Given the description of an element on the screen output the (x, y) to click on. 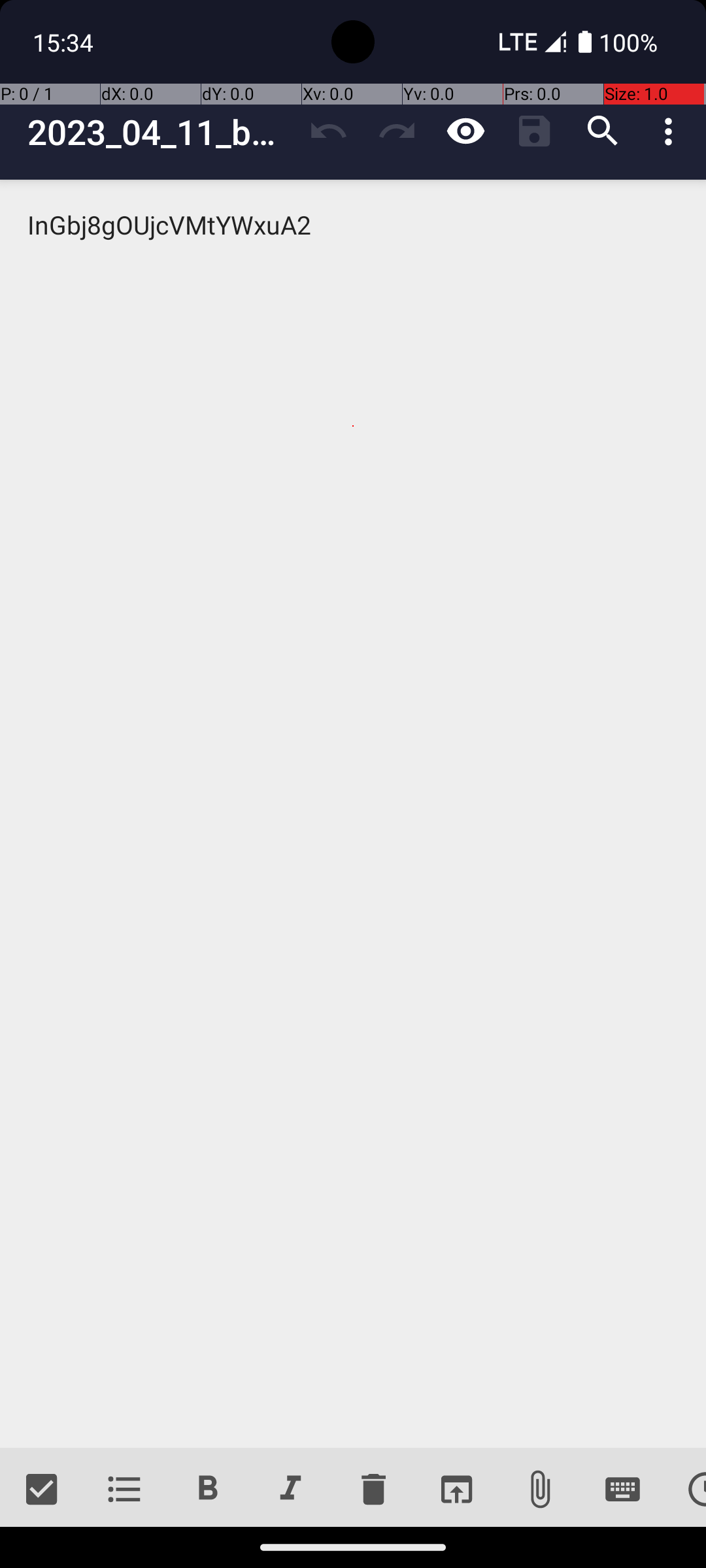
2023_04_11_budget_home_renovation Element type: android.widget.TextView (160, 131)
InGbj8gOUjcVMtYWxuA2
 Element type: android.widget.EditText (353, 813)
